Given the description of an element on the screen output the (x, y) to click on. 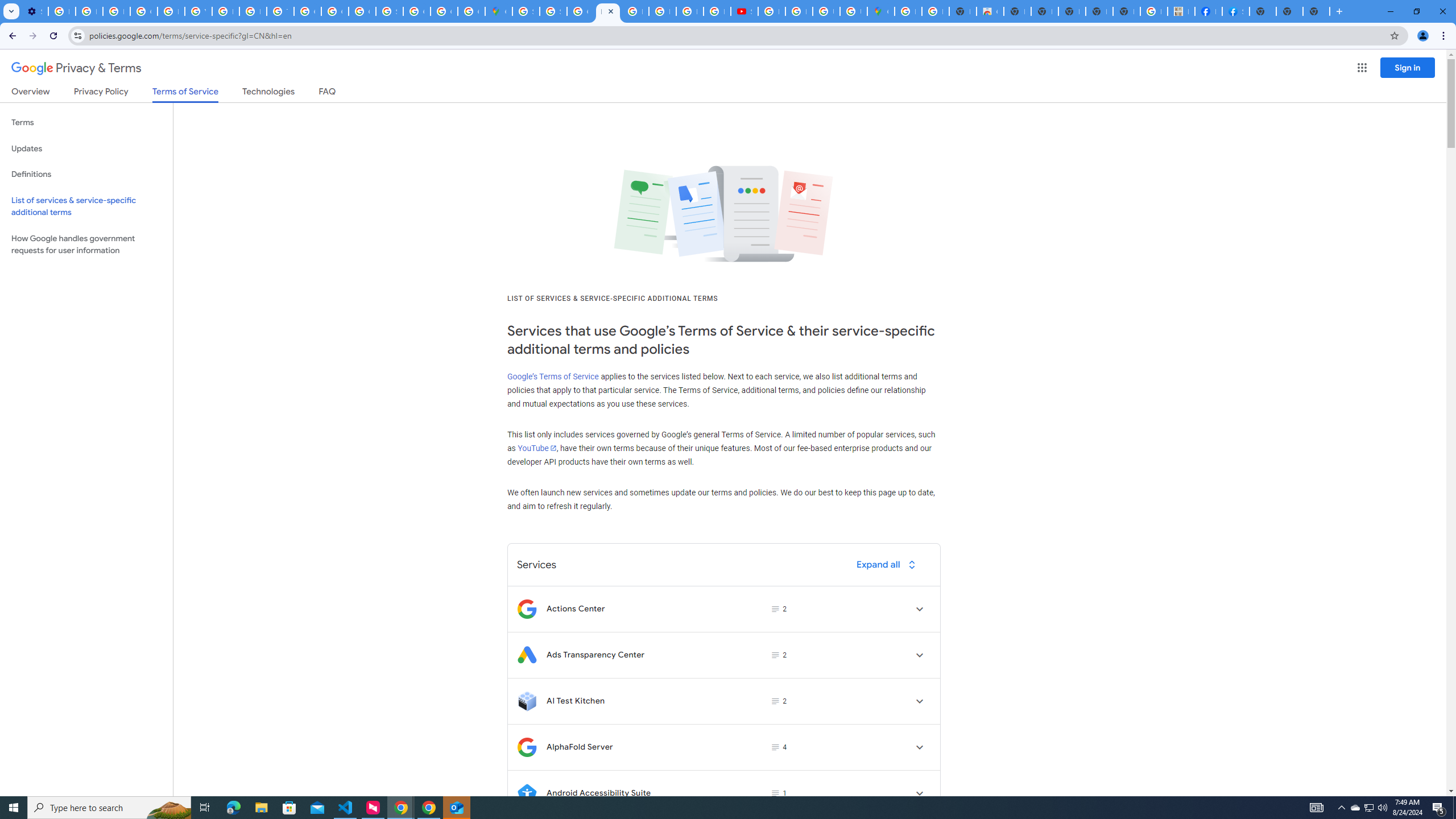
Logo for Android Accessibility Suite (526, 792)
Logo for Actions Center (526, 608)
Privacy Help Center - Policies Help (253, 11)
Blogger Policies and Guidelines - Transparency Center (634, 11)
Privacy Help Center - Policies Help (170, 11)
https://scholar.google.com/ (225, 11)
